Given the description of an element on the screen output the (x, y) to click on. 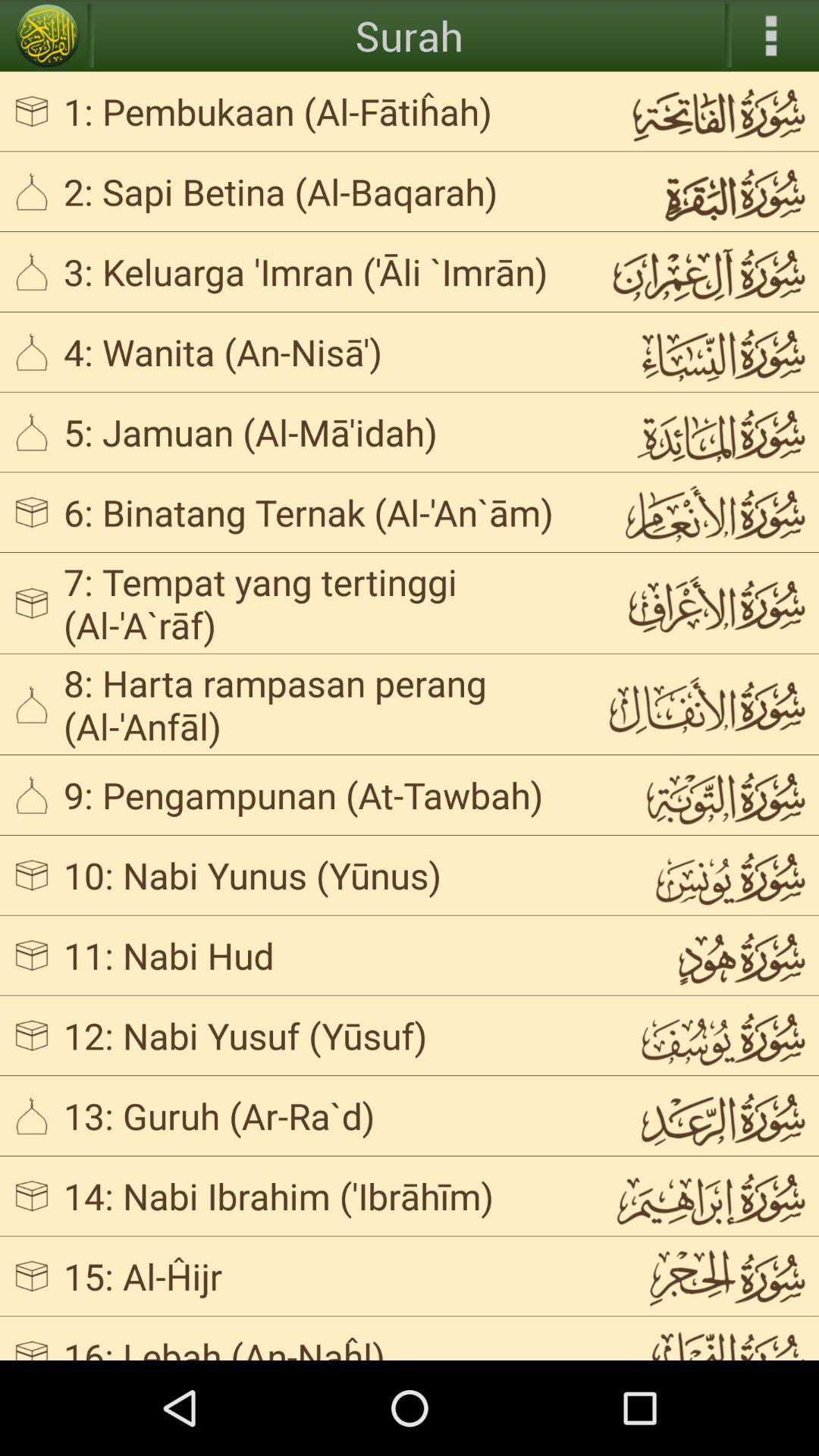
jump until 7 tempat yang item (322, 602)
